Given the description of an element on the screen output the (x, y) to click on. 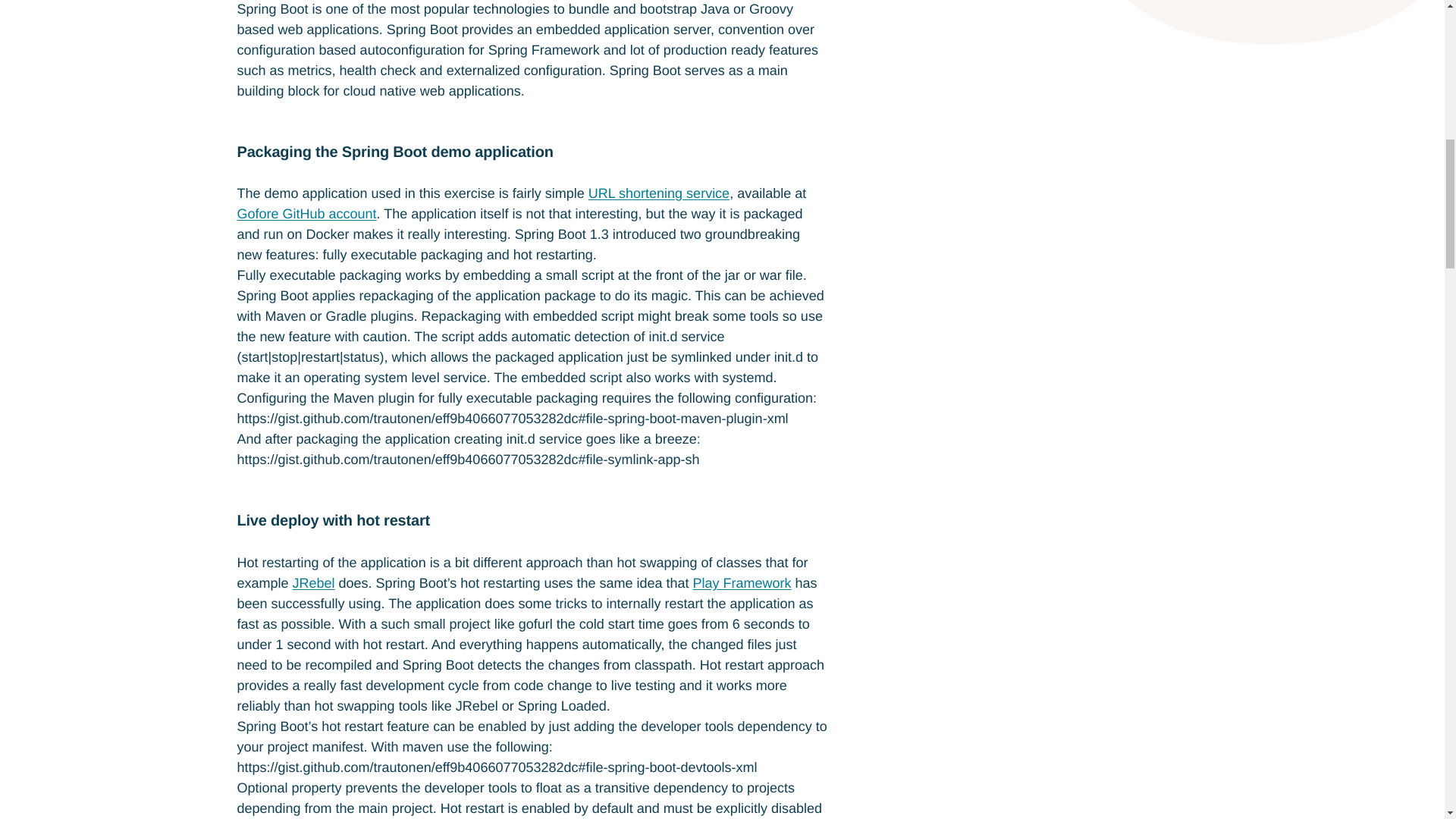
gofurl (658, 192)
Play Framework (742, 582)
JRebel (313, 582)
Gofore GitHub (305, 213)
